Given the description of an element on the screen output the (x, y) to click on. 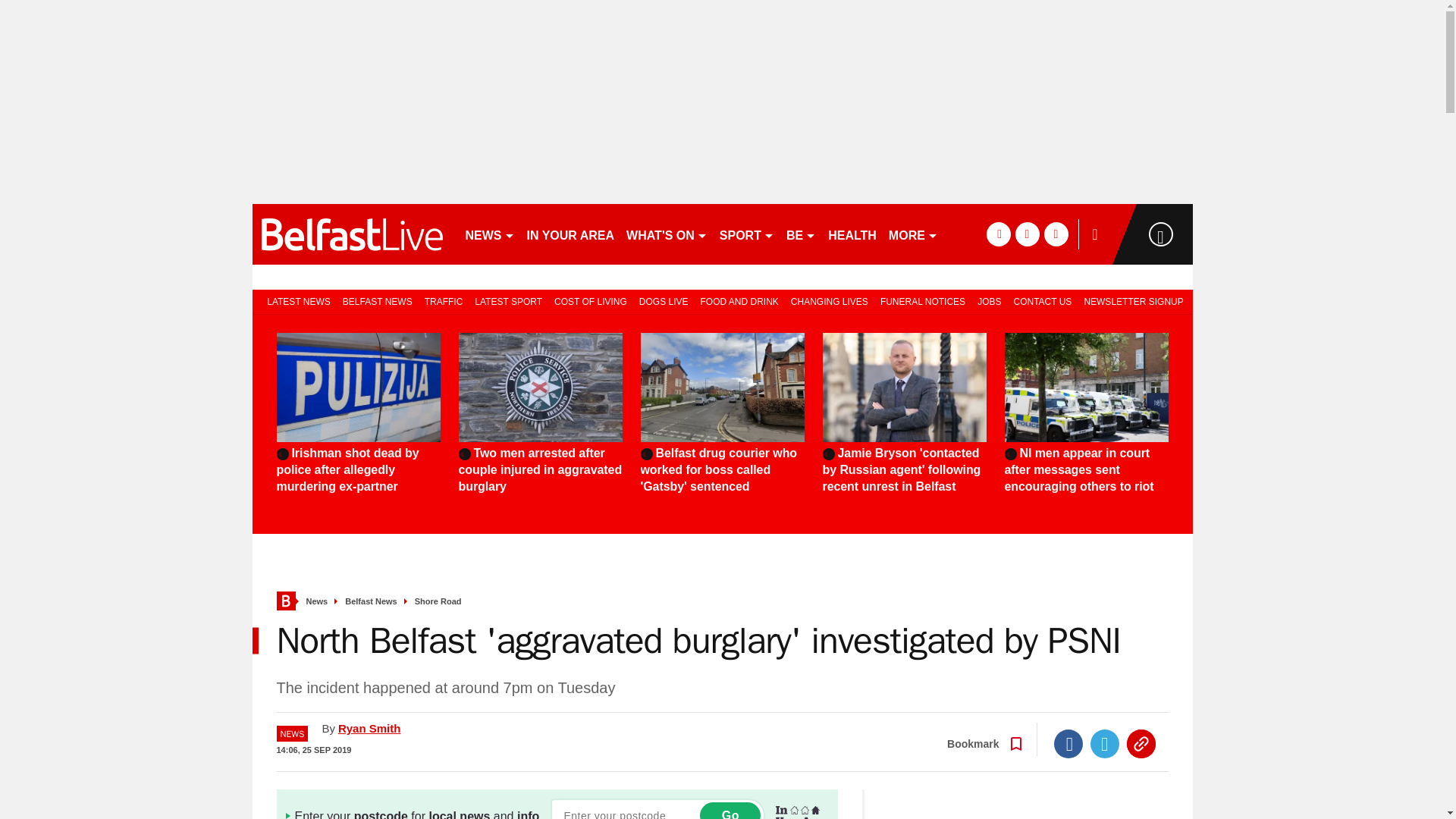
instagram (1055, 233)
Go (730, 810)
twitter (1026, 233)
IN YOUR AREA (569, 233)
WHAT'S ON (666, 233)
NEWS (490, 233)
SPORT (746, 233)
Twitter (1104, 743)
belfastlive (351, 233)
facebook (997, 233)
